Given the description of an element on the screen output the (x, y) to click on. 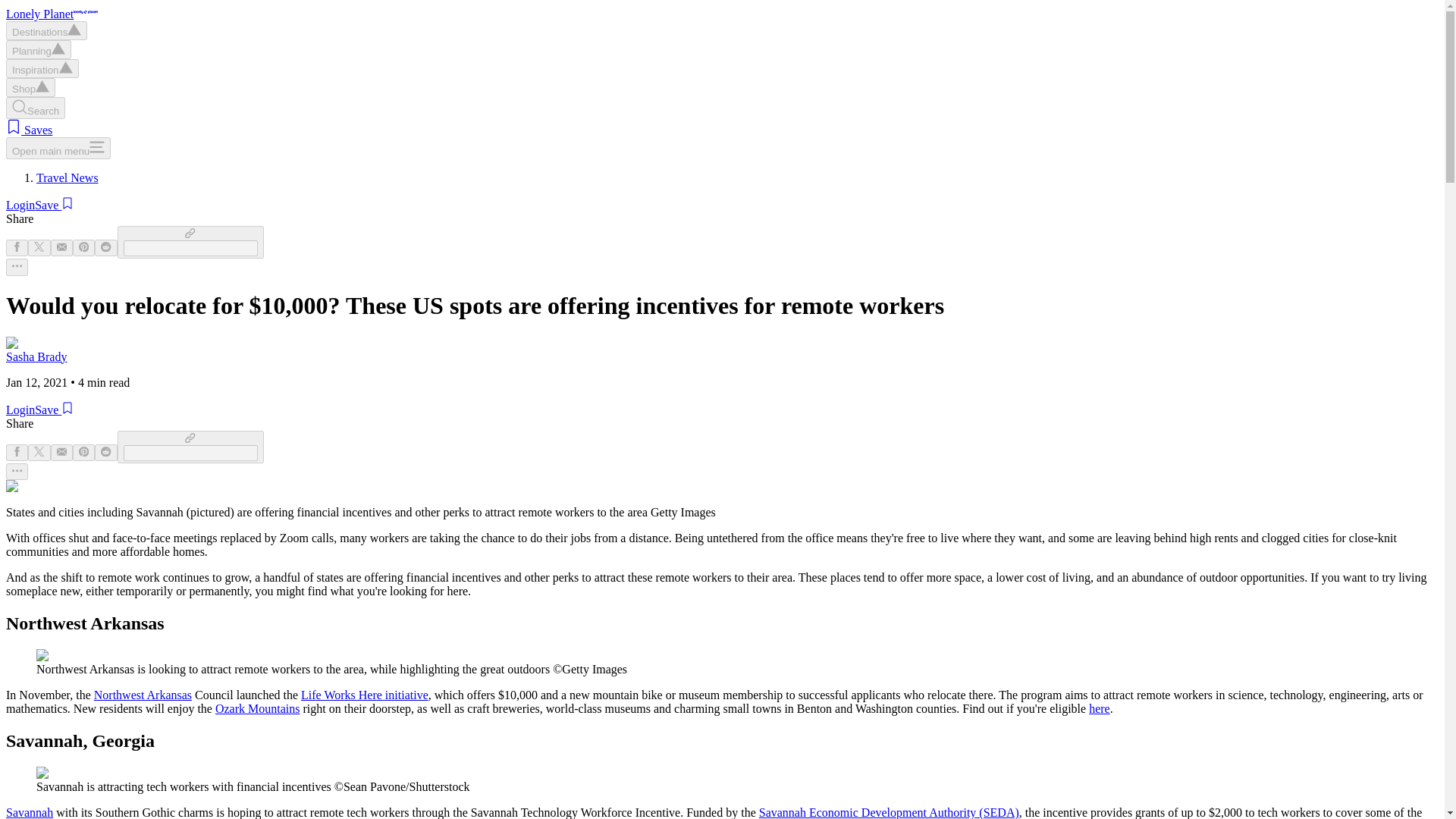
Inspiration (41, 67)
Search (35, 107)
LoginSave (39, 409)
Savannah (28, 812)
Ozark Mountains (257, 707)
Lonely Planet (51, 13)
Northwest Arkansas (143, 694)
Planning (38, 49)
Shop (30, 87)
Open main menu (57, 147)
LoginSave (39, 205)
Destinations (46, 30)
Sasha Brady (35, 356)
Travel News (67, 177)
here (1099, 707)
